Given the description of an element on the screen output the (x, y) to click on. 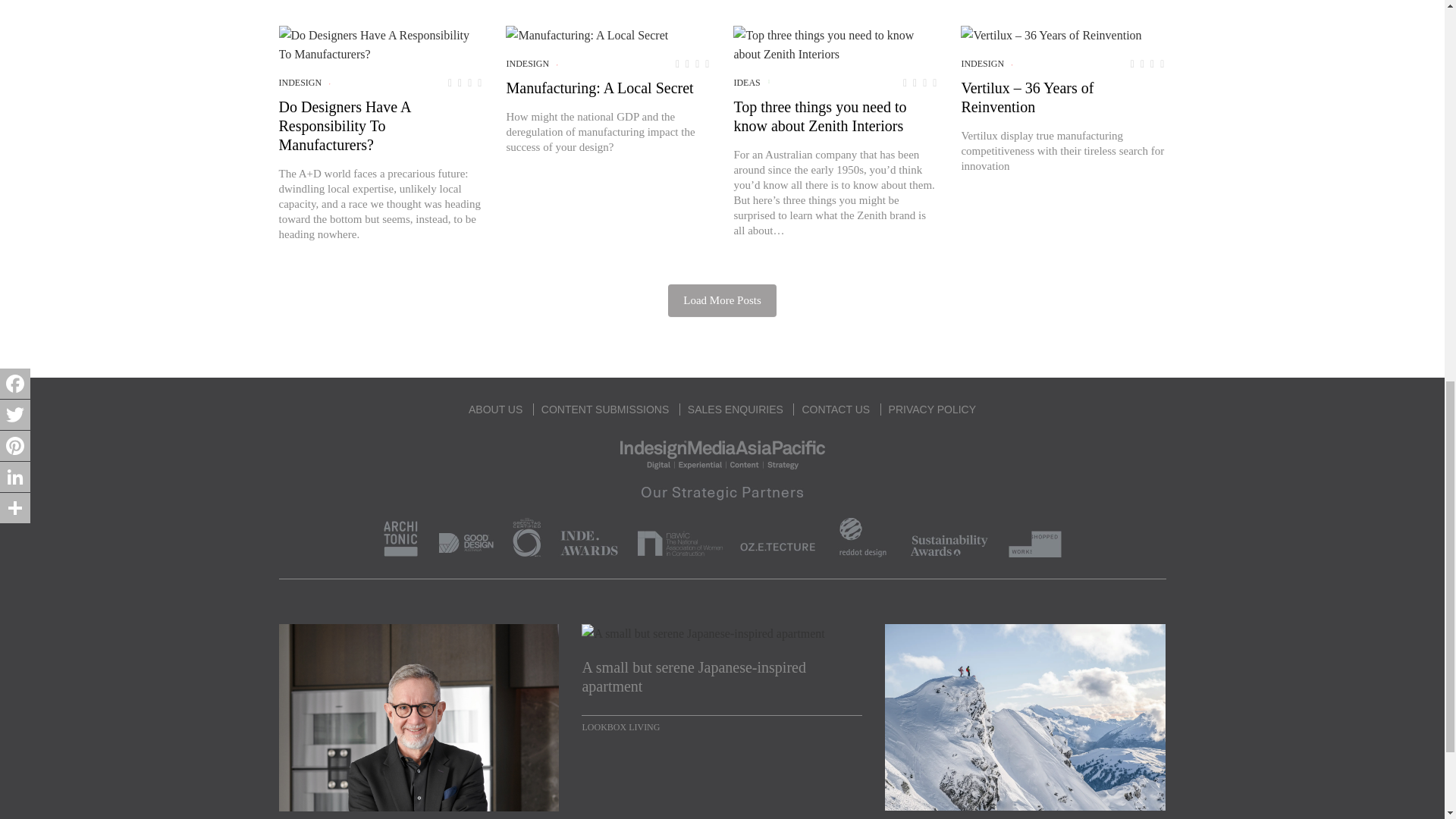
Top three things you need to know about Zenith Interiors (835, 44)
A small but serene Japanese-inspired apartment (720, 677)
Manufacturing: A Local Secret (586, 35)
Do Designers Have A Responsibility To Manufacturers? (381, 44)
Brought to you by Indesign Media Asia Pacific (721, 453)
Our Strategic Partners (722, 517)
